Given the description of an element on the screen output the (x, y) to click on. 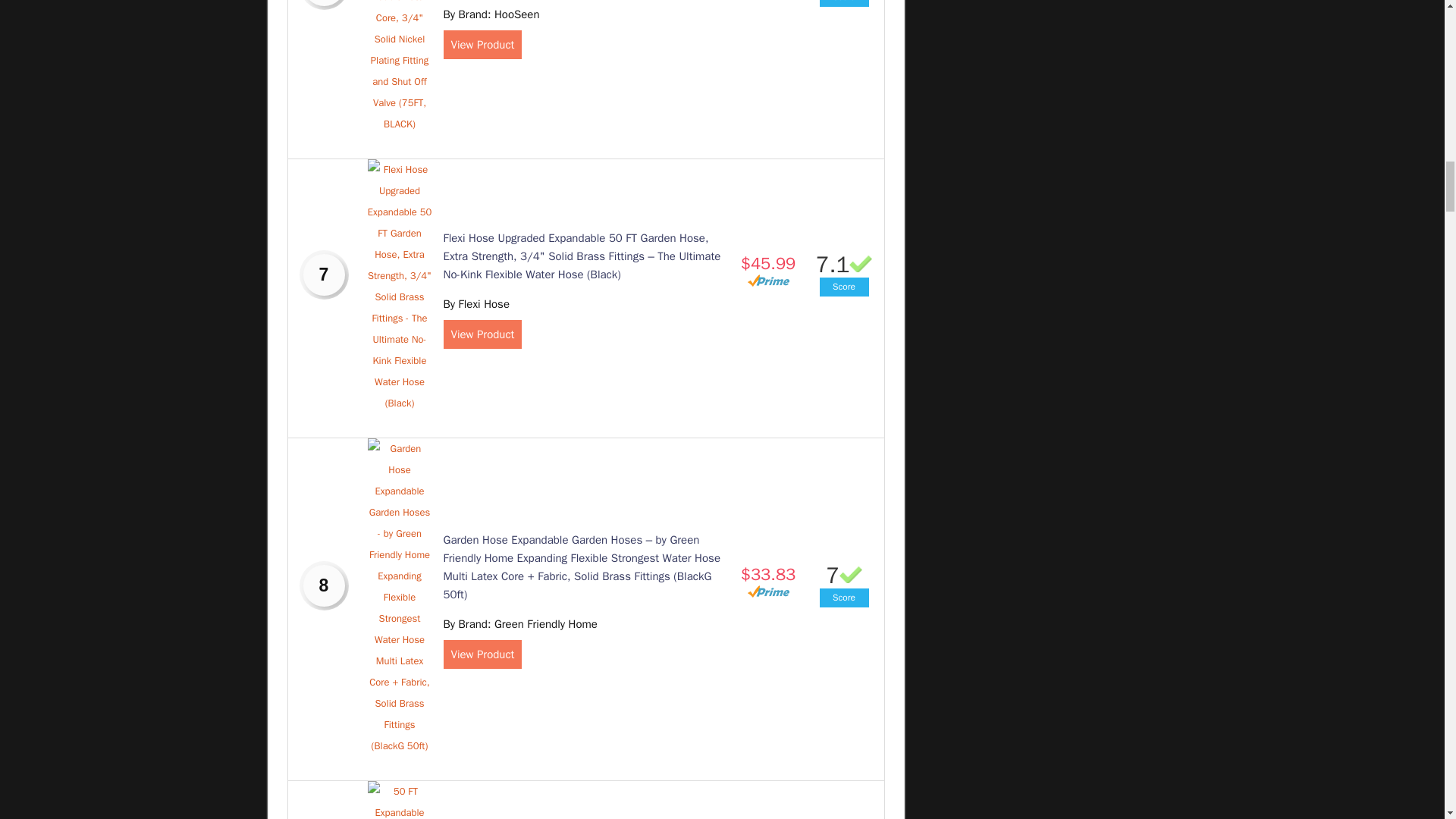
By Brand: HooSeen (490, 14)
View Product (481, 44)
By Flexi Hose (475, 304)
View Product (481, 334)
